Given the description of an element on the screen output the (x, y) to click on. 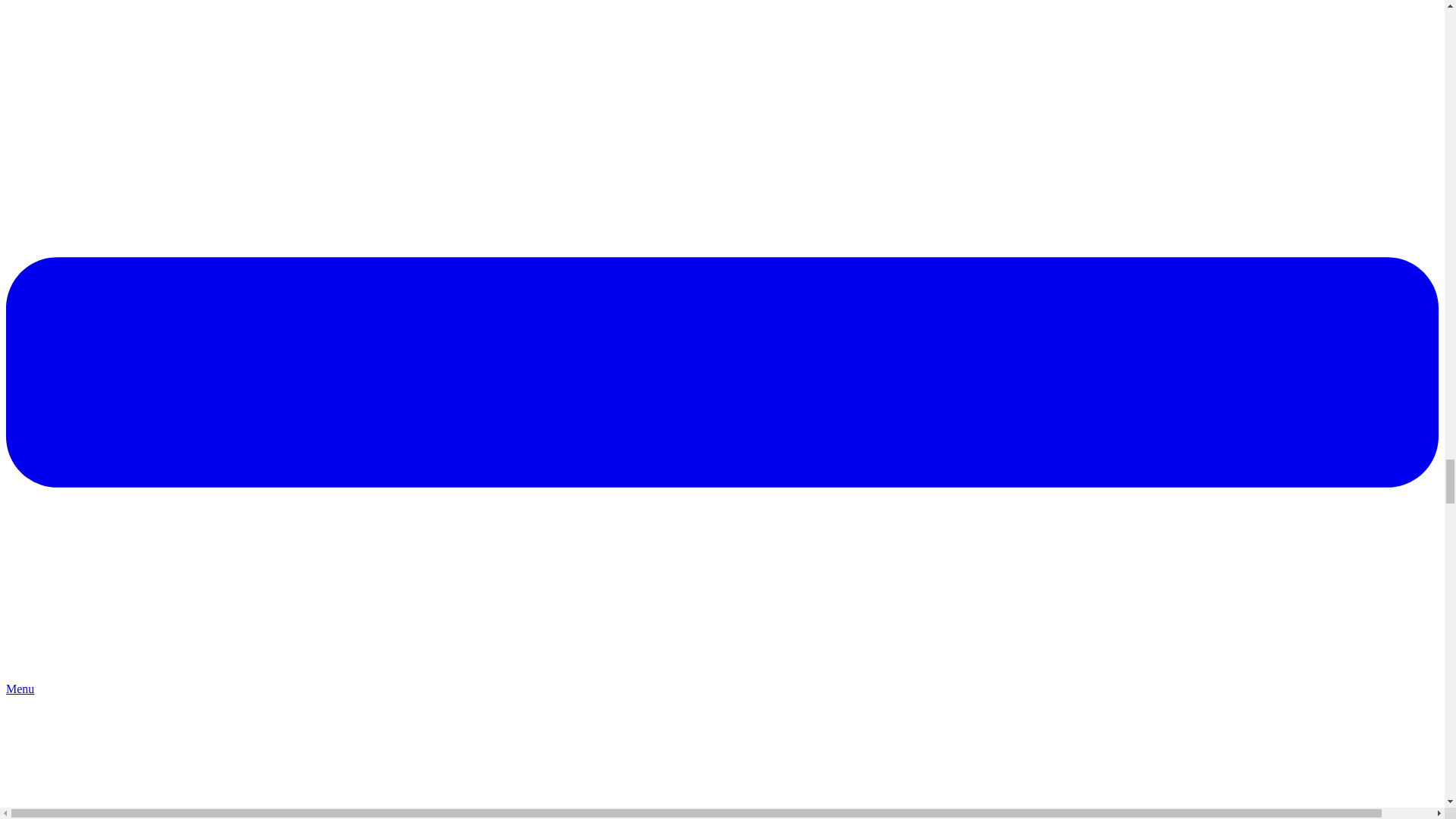
Menu (721, 682)
